Given the description of an element on the screen output the (x, y) to click on. 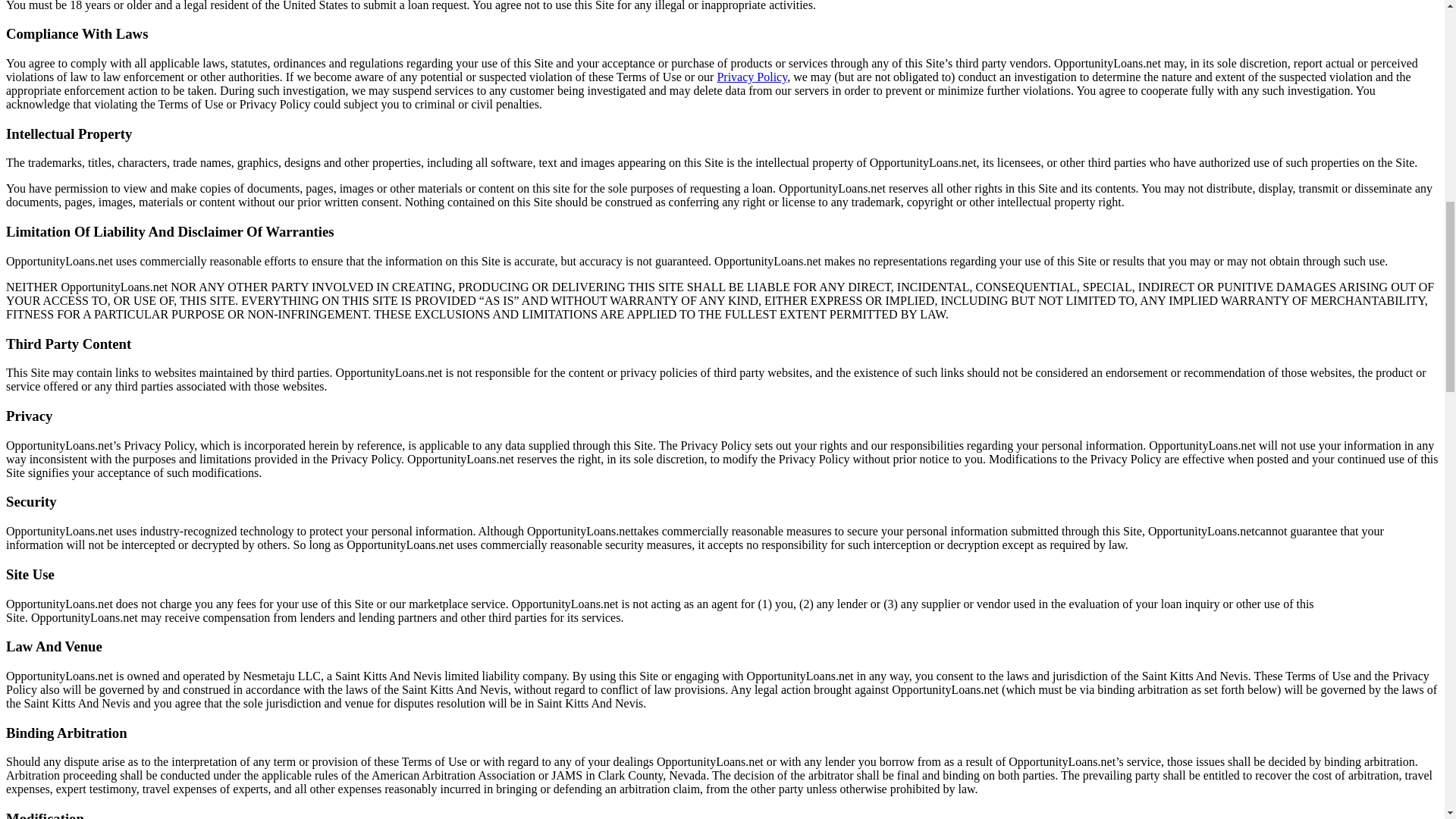
Privacy Policy (751, 76)
